Given the description of an element on the screen output the (x, y) to click on. 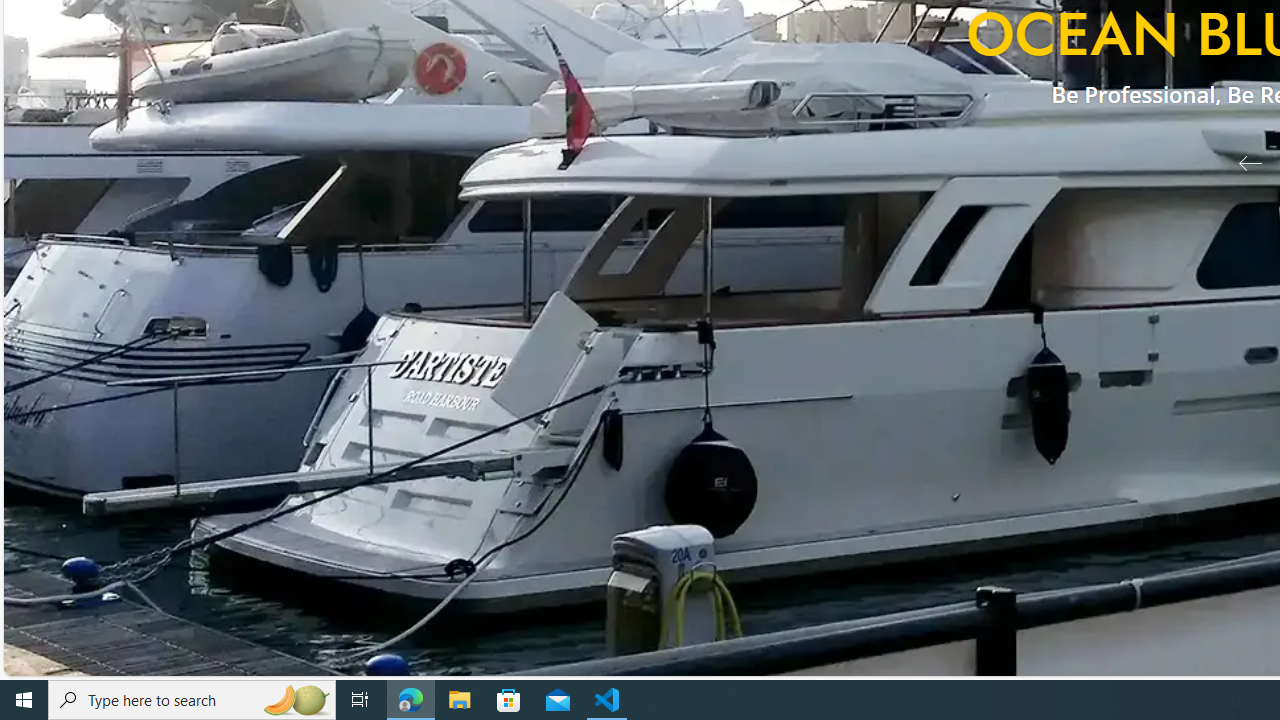
Previous Slide (1242, 161)
